Given the description of an element on the screen output the (x, y) to click on. 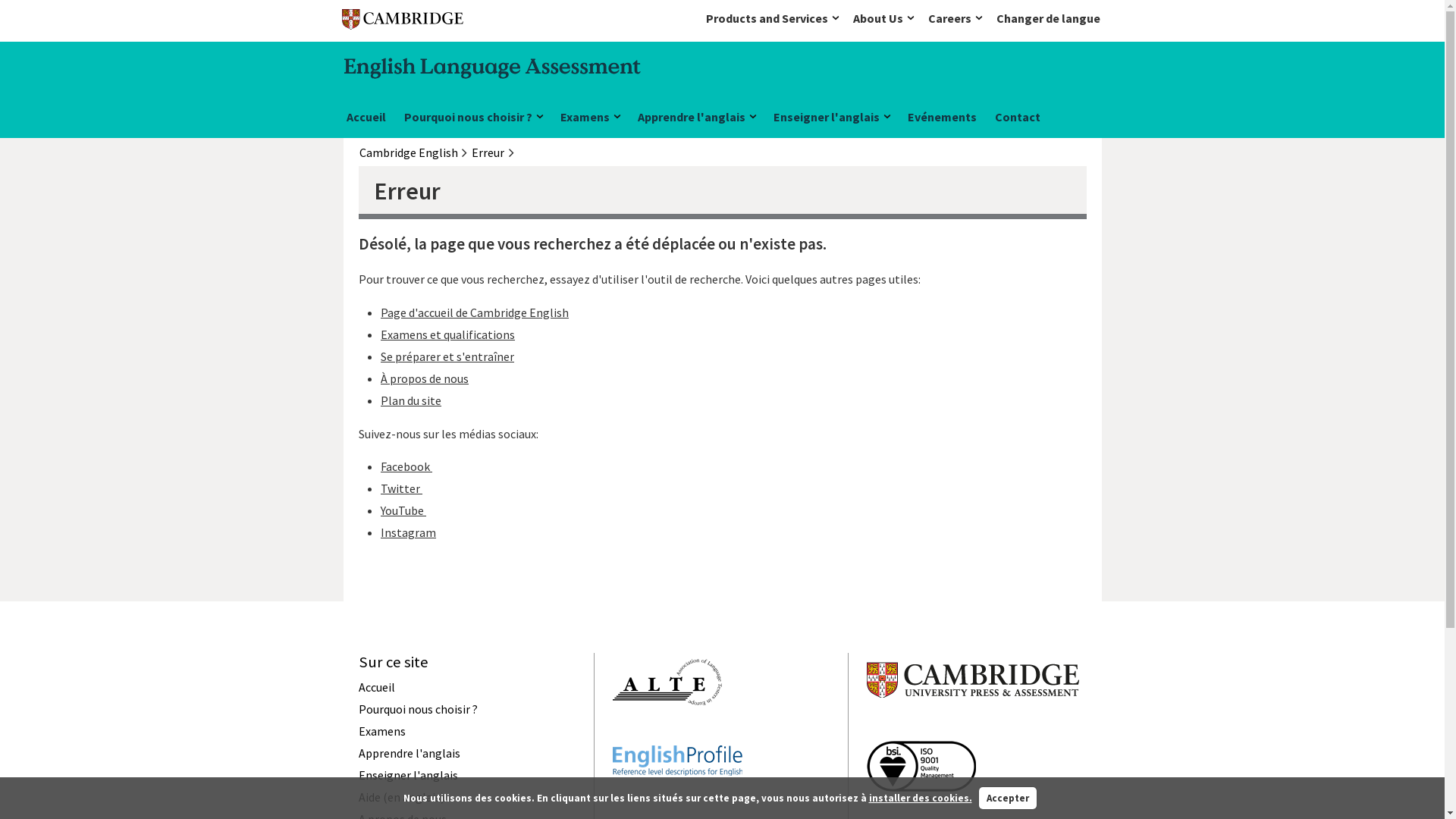
Examens Element type: text (380, 730)
Pourquoi nous choisir ? Element type: text (416, 708)
English Profile Element type: hover (677, 802)
Page d'accueil de Cambridge English Element type: text (474, 312)
Erreur Element type: text (487, 152)
installer des cookies. Element type: text (920, 797)
Examens et qualifications Element type: text (447, 334)
Contact Element type: text (1017, 119)
Twitter  Element type: text (401, 487)
Enseigner l'anglais Element type: text (407, 774)
Examens Element type: text (588, 119)
About Us Element type: text (886, 17)
Aide (en anglais) Element type: text (400, 796)
Apprendre l'anglais Element type: text (408, 752)
Accepter Element type: text (1007, 798)
Facebook  Element type: text (406, 465)
Changer de langue Element type: text (1048, 18)
Accueil Element type: text (365, 119)
Apprendre l'anglais Element type: text (695, 119)
Careers Element type: text (959, 17)
Cambridge English Element type: text (408, 152)
Enseigner l'anglais Element type: text (831, 119)
Pourquoi nous choisir ? Element type: text (472, 119)
Instagram Element type: text (408, 531)
Accueil Element type: text (375, 686)
Products and Services Element type: text (775, 17)
ALTE Element type: hover (666, 732)
Cambridge University Press & Assessment Element type: hover (972, 727)
YouTube  Element type: text (403, 509)
Plan du site Element type: text (410, 399)
